Given the description of an element on the screen output the (x, y) to click on. 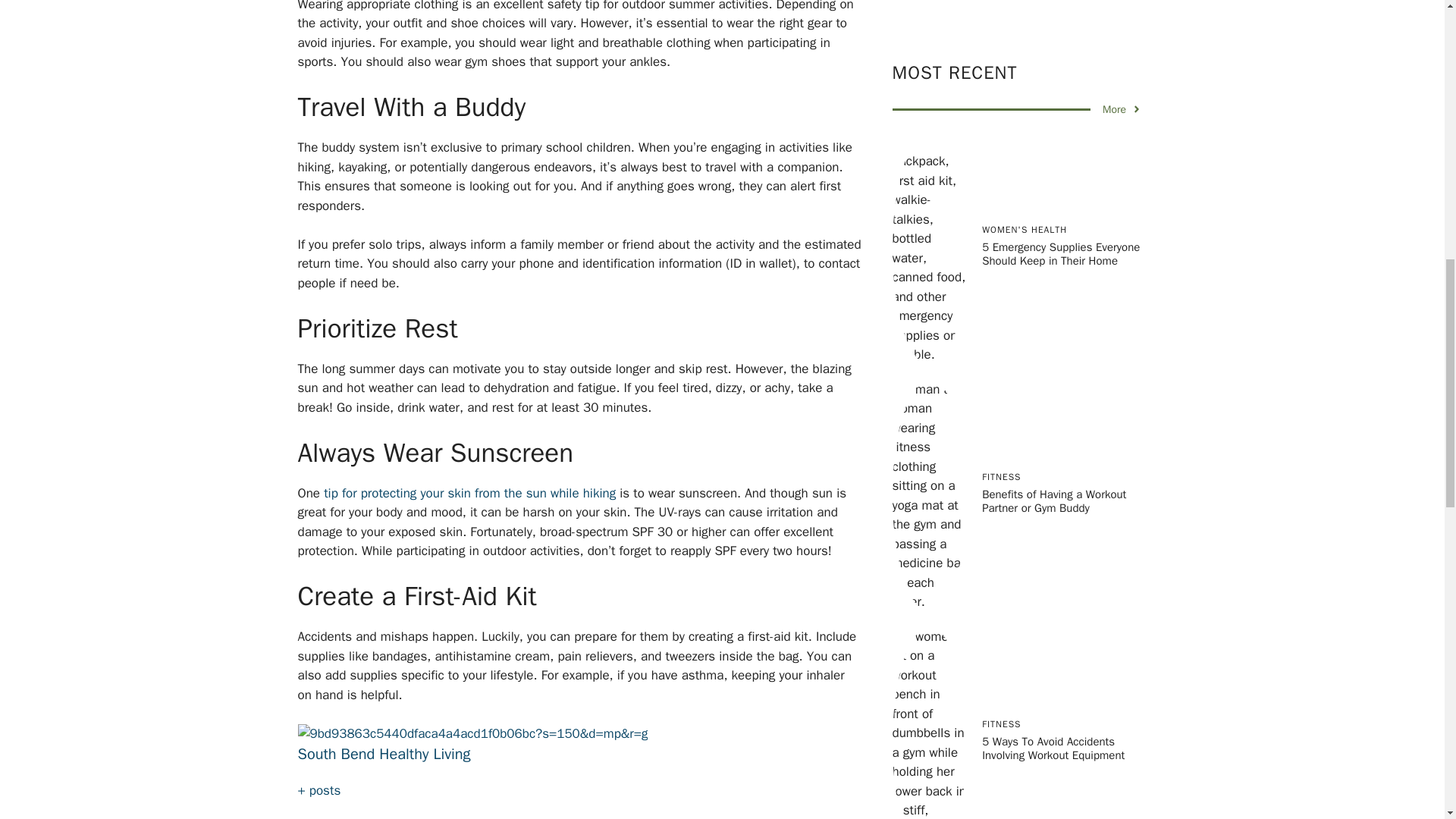
Benefits of Having a Workout Partner or Gym Buddy (1053, 185)
South Bend Healthy Living (383, 753)
tip for protecting your skin from the sun while hiking (469, 493)
Safety Tips for Engaging in Outdoor Summer Activities 1 (472, 733)
